Given the description of an element on the screen output the (x, y) to click on. 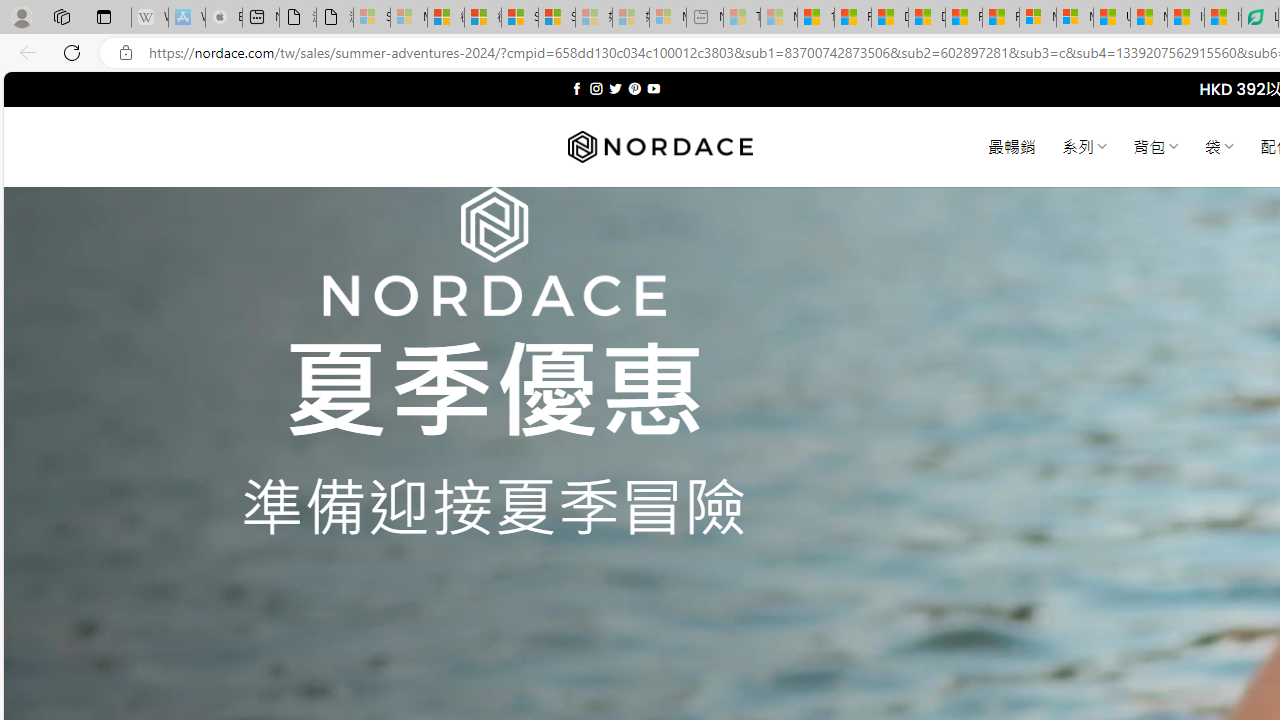
Top Stories - MSN - Sleeping (742, 17)
Microsoft Services Agreement - Sleeping (408, 17)
Follow on Twitter (615, 88)
Sign in to your Microsoft account - Sleeping (372, 17)
Follow on YouTube (653, 88)
Buy iPad - Apple - Sleeping (223, 17)
Food and Drink - MSN (852, 17)
